Given the description of an element on the screen output the (x, y) to click on. 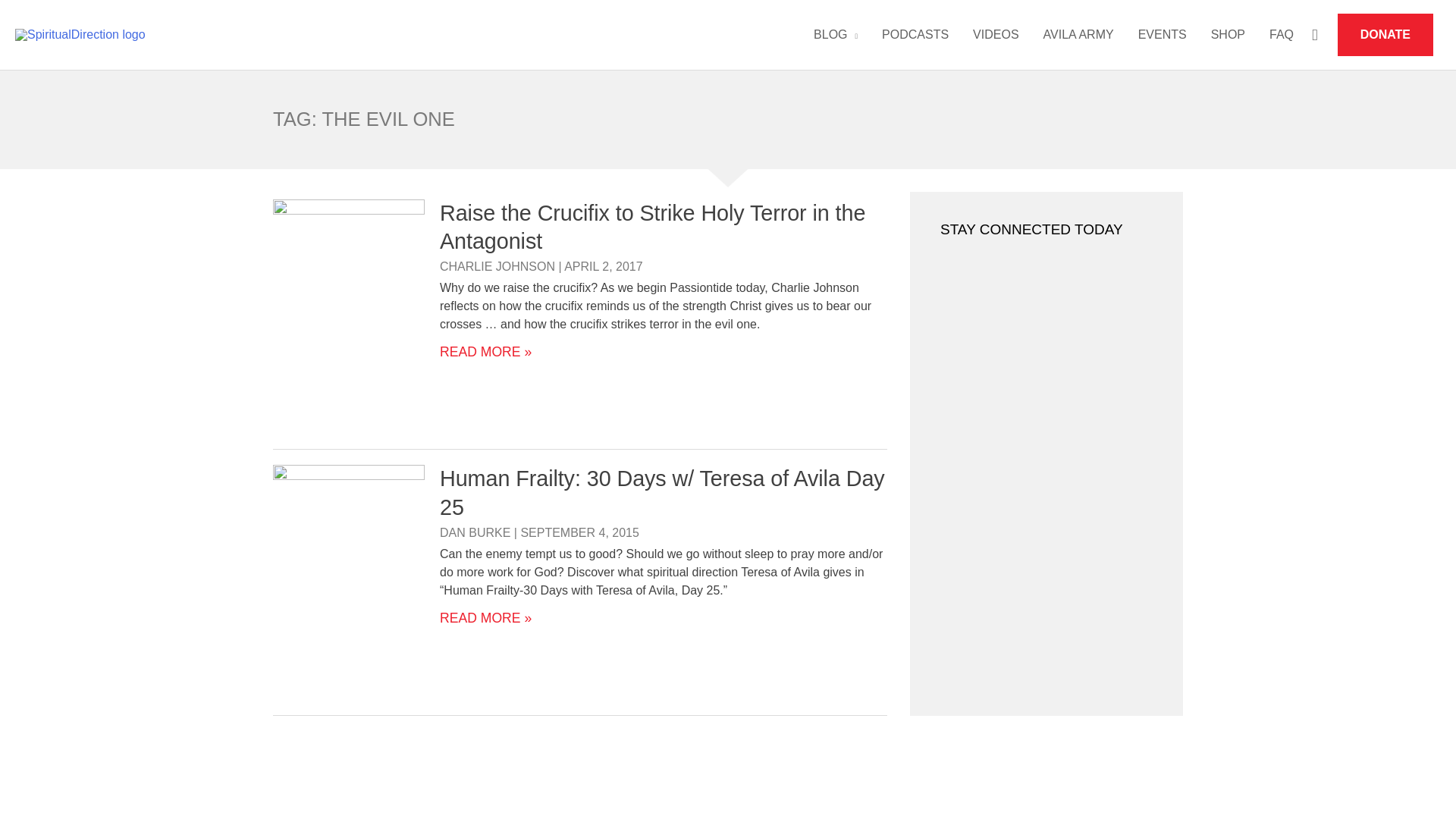
PODCASTS (914, 34)
BLOG (835, 34)
VIDEOS (995, 34)
DONATE (1385, 34)
EVENTS (1161, 34)
AVILA ARMY (1077, 34)
